Given the description of an element on the screen output the (x, y) to click on. 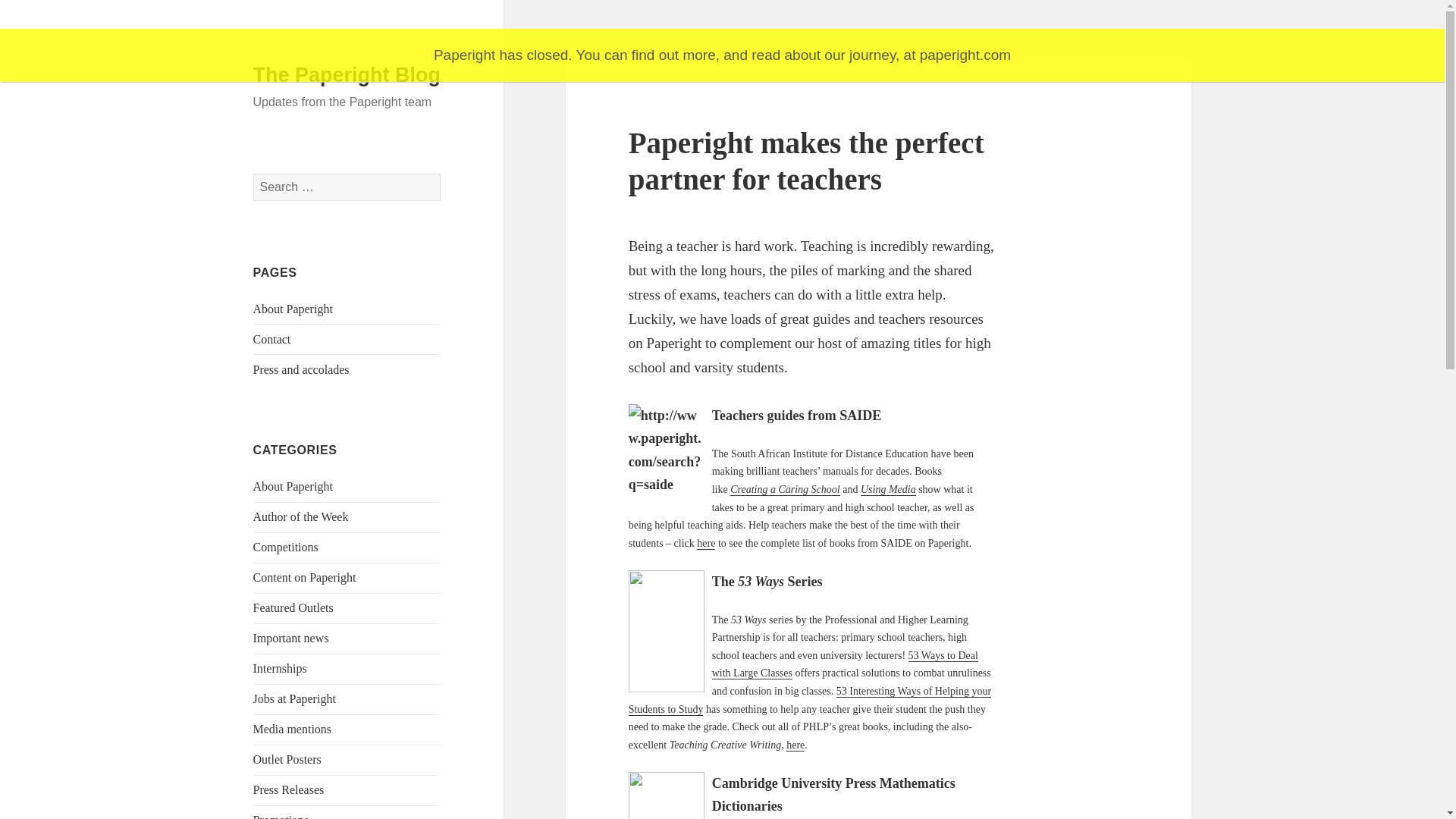
Promotions (280, 816)
Press Releases (288, 789)
Contact (272, 338)
Internships (280, 667)
Important news (291, 637)
Jobs at Paperight (294, 698)
53 Interesting Ways of Helping your Students to Study (809, 700)
Media mentions (292, 728)
